Given the description of an element on the screen output the (x, y) to click on. 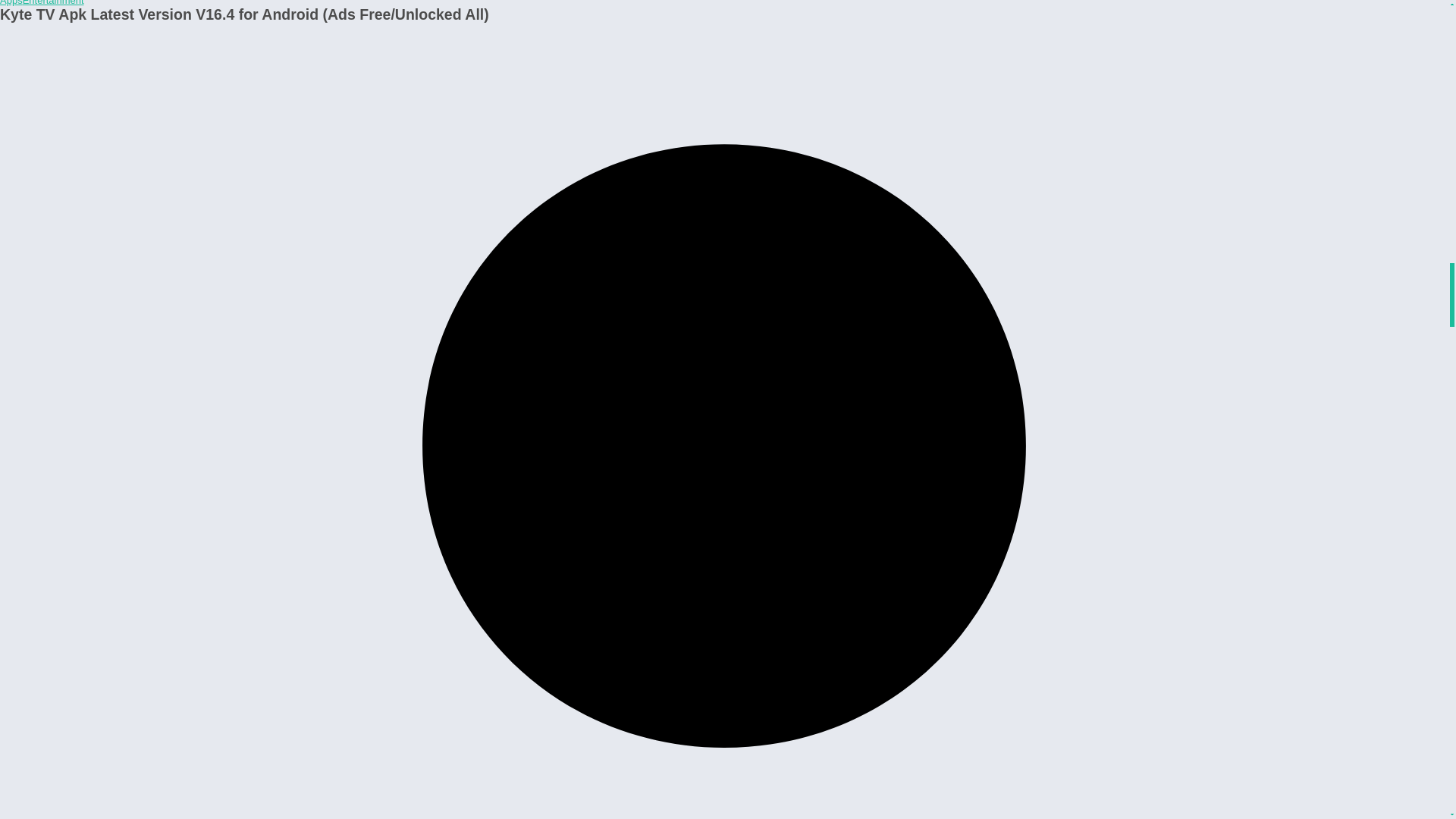
Apps (11, 2)
Entertainment (53, 2)
